Given the description of an element on the screen output the (x, y) to click on. 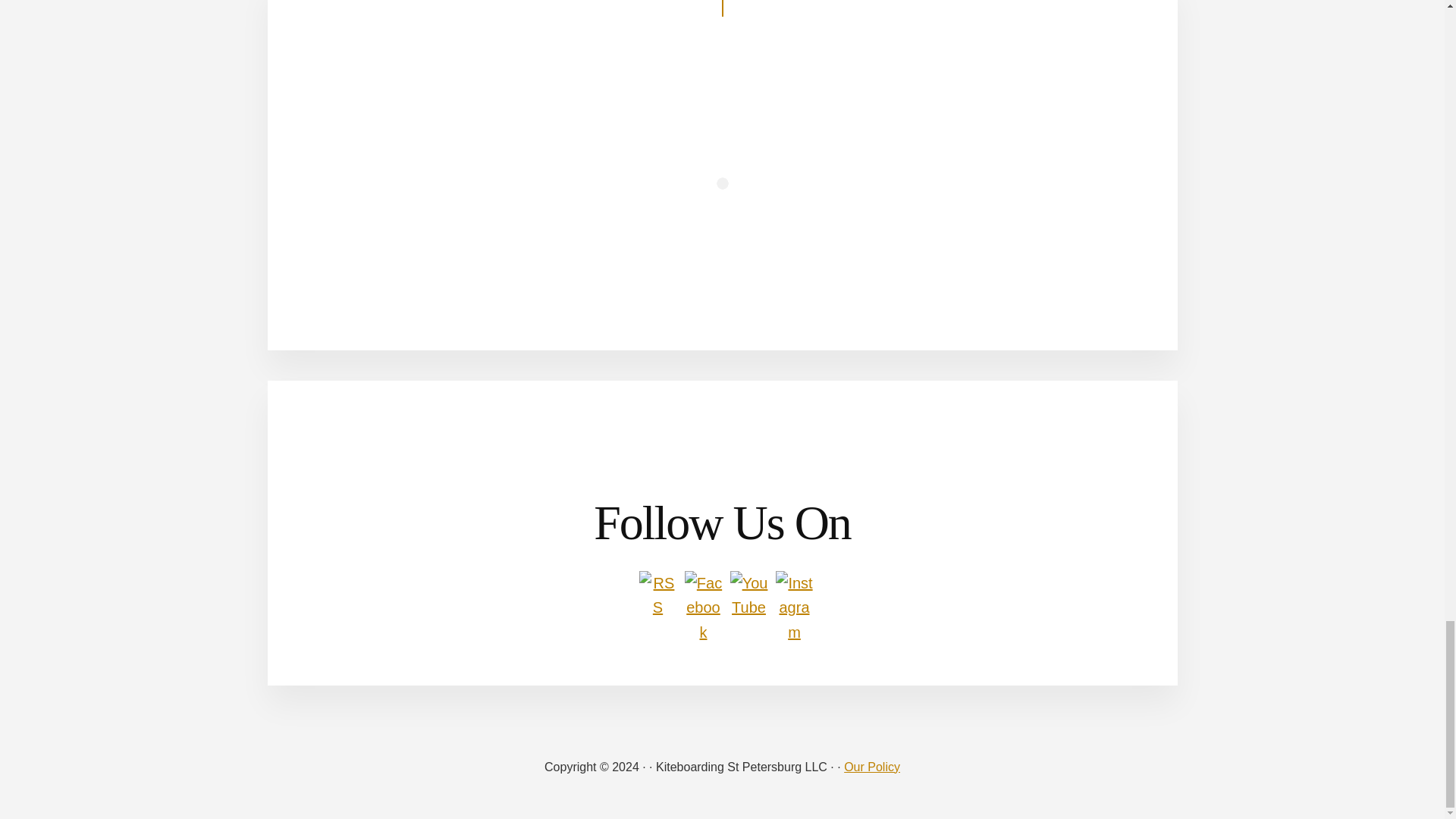
RSS (658, 594)
Instagram (793, 607)
Facebook (703, 607)
YouTube (748, 594)
